Given the description of an element on the screen output the (x, y) to click on. 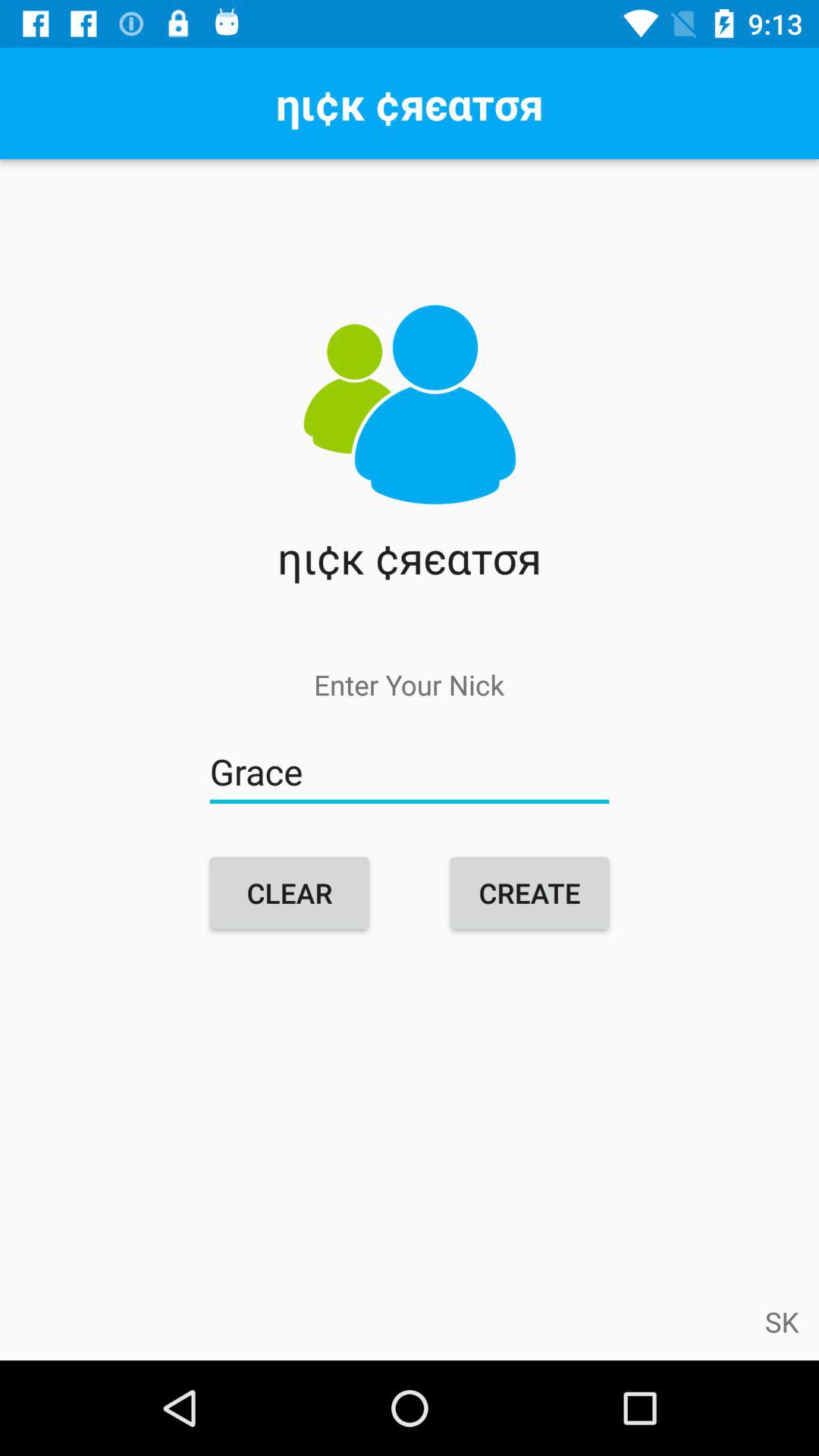
select item next to the clear item (529, 892)
